Given the description of an element on the screen output the (x, y) to click on. 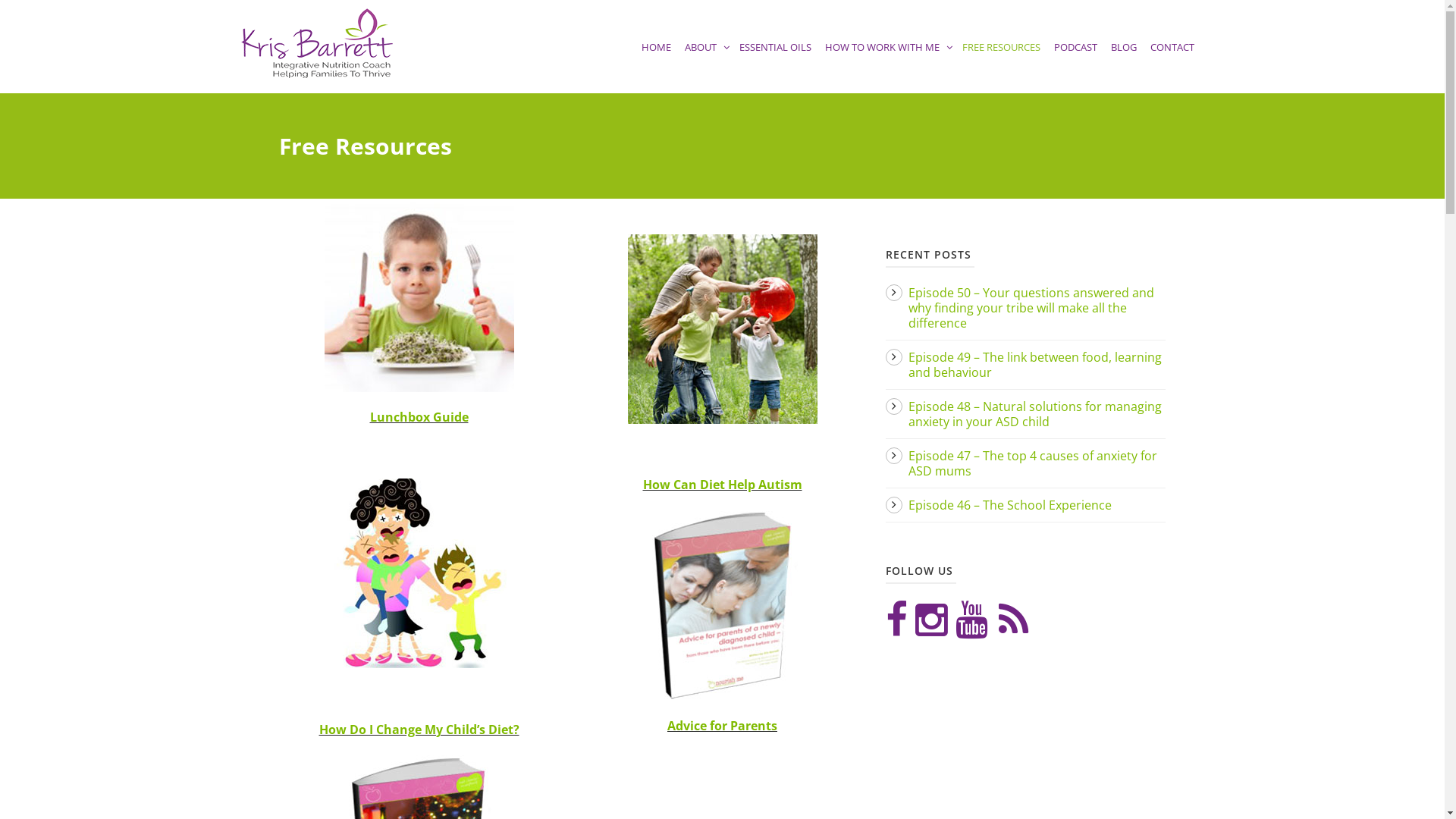
ESSENTIAL OILS Element type: text (775, 61)
How Can Diet Help Autism Element type: text (722, 484)
PODCAST Element type: text (1074, 61)
ABOUT Element type: text (704, 61)
HOW TO WORK WITH ME Element type: text (885, 61)
Lunchbox Guide Element type: text (419, 416)
BLOG Element type: text (1123, 61)
FREE RESOURCES Element type: text (1001, 61)
Advice for Parents Element type: text (722, 725)
HOME Element type: text (655, 61)
CONTACT Element type: text (1172, 61)
